Given the description of an element on the screen output the (x, y) to click on. 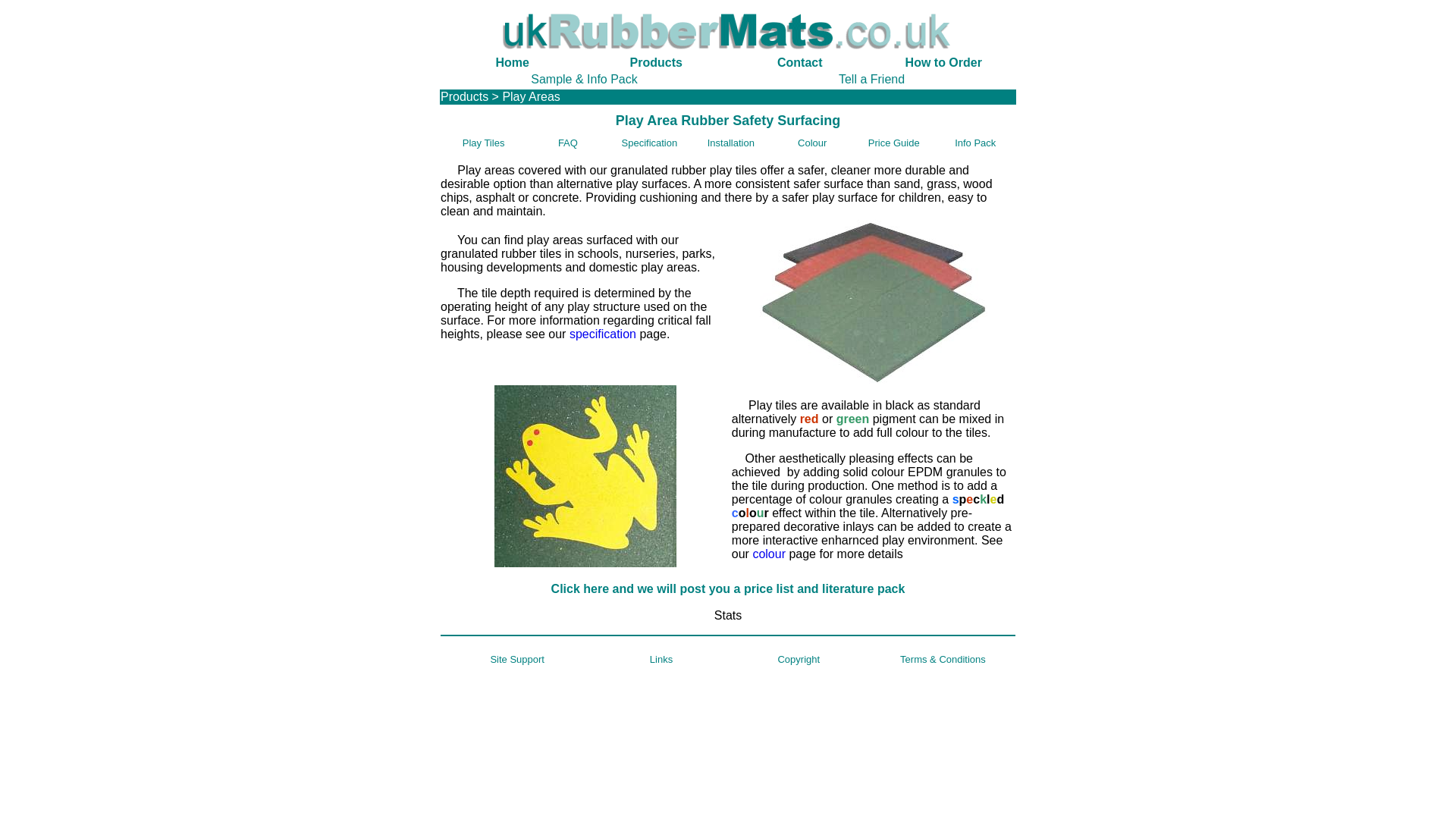
Copyright (798, 659)
colour (769, 553)
Info Pack (975, 142)
Specification (649, 142)
Products (464, 96)
How to Order (943, 62)
specification (602, 333)
Colour (812, 142)
Site Support (516, 659)
Contact (799, 62)
Installation (730, 142)
Tell a Friend (871, 78)
Links (660, 659)
Price Guide (893, 141)
